Given the description of an element on the screen output the (x, y) to click on. 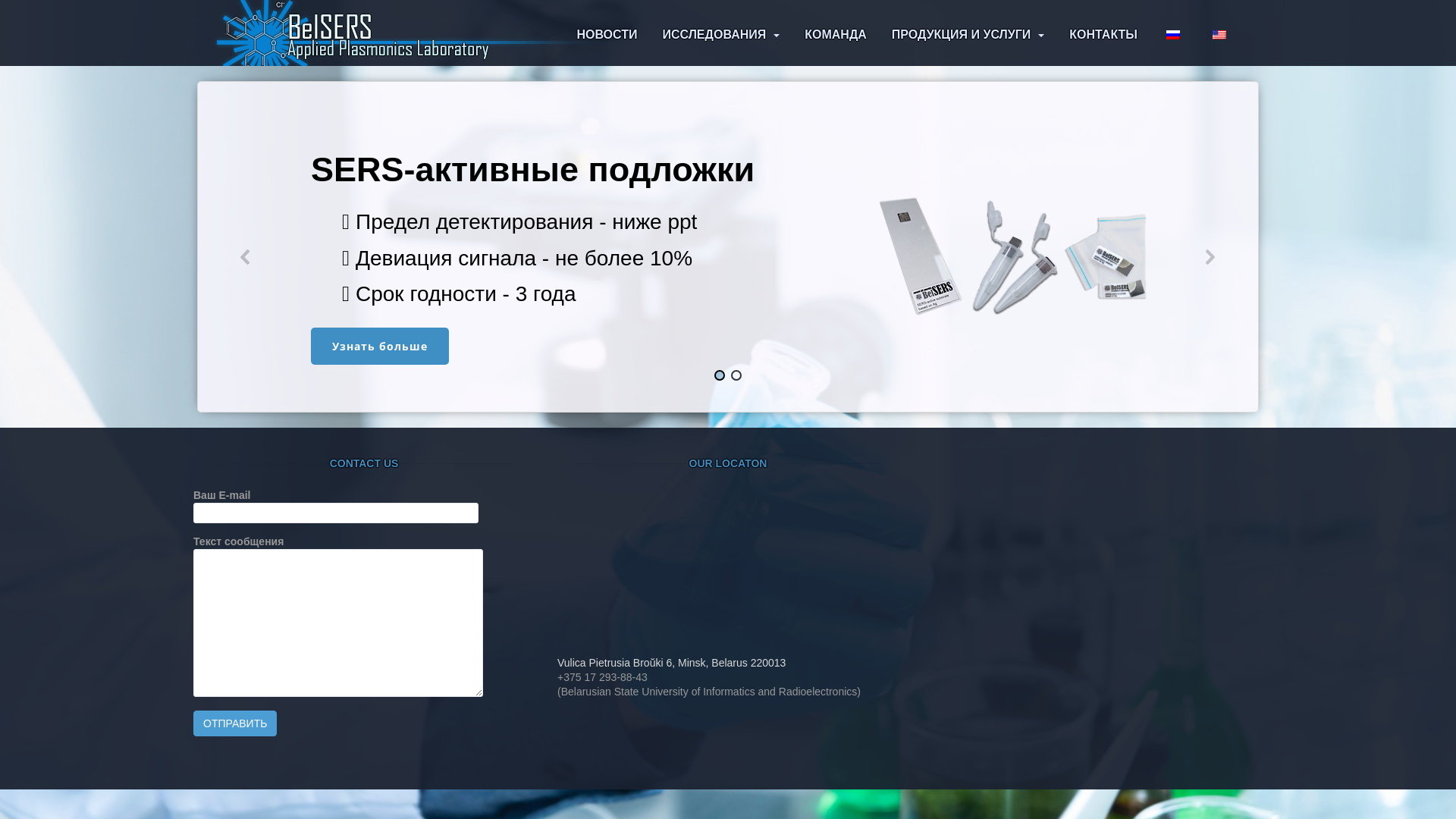
Russian Element type: hover (1172, 34)
English Element type: hover (1219, 34)
